Given the description of an element on the screen output the (x, y) to click on. 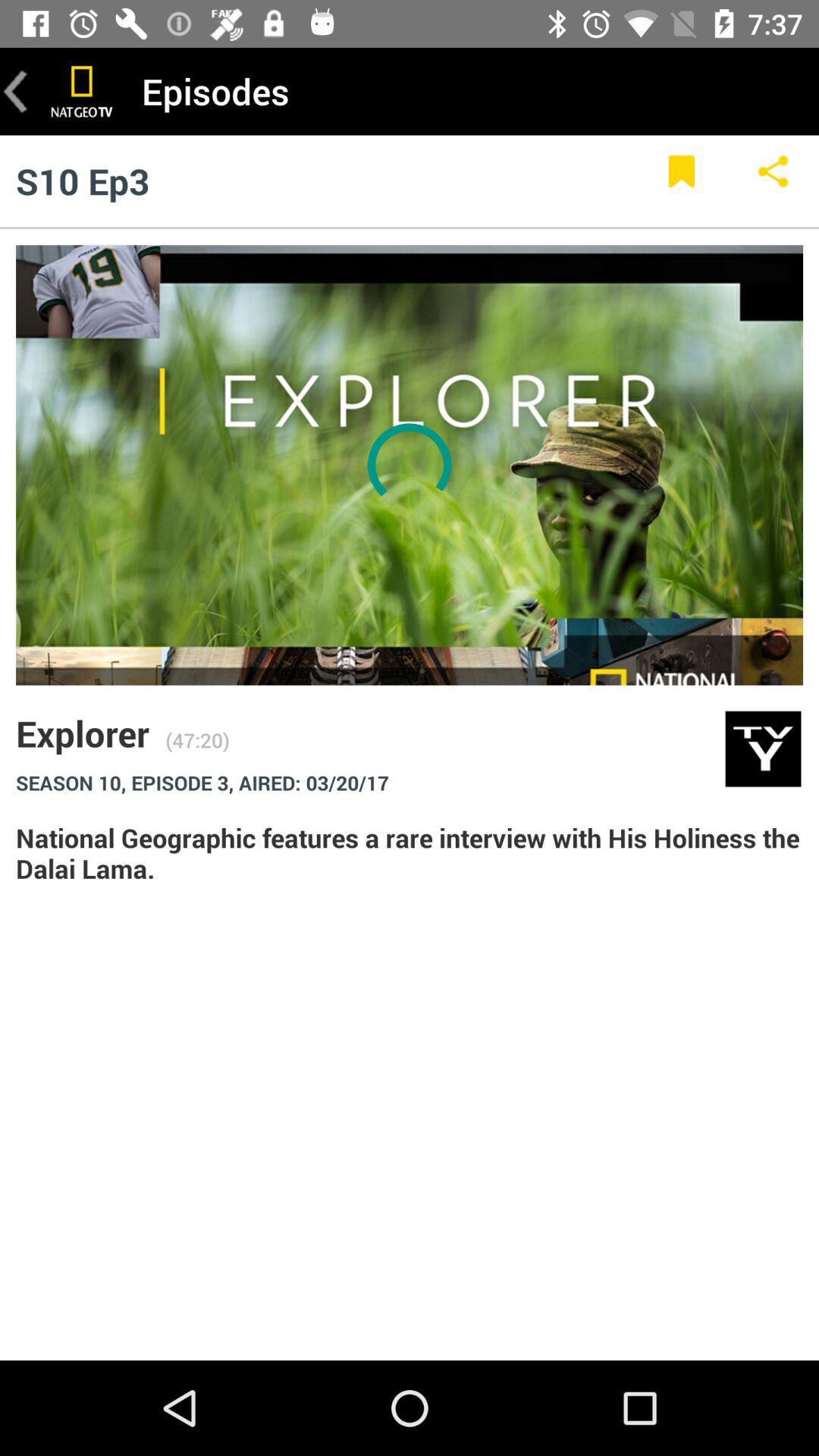
view national geographic channel (81, 91)
